Given the description of an element on the screen output the (x, y) to click on. 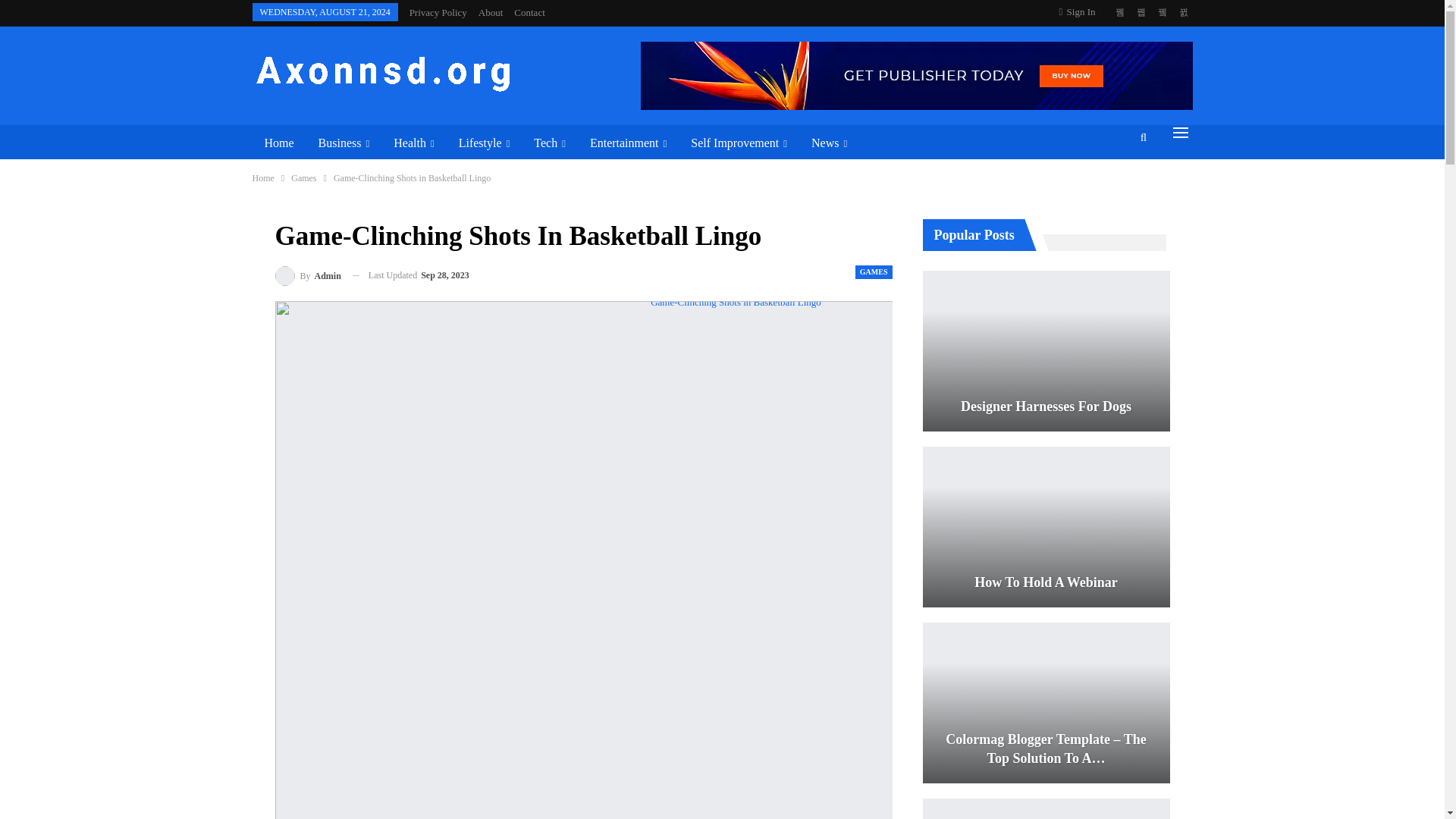
Home (278, 143)
Contact (528, 12)
Browse Author Articles (307, 275)
Sign In (1080, 12)
Health (413, 143)
Lifestyle (484, 143)
Business (343, 143)
Tech (549, 143)
About (491, 12)
Privacy Policy (438, 12)
